Given the description of an element on the screen output the (x, y) to click on. 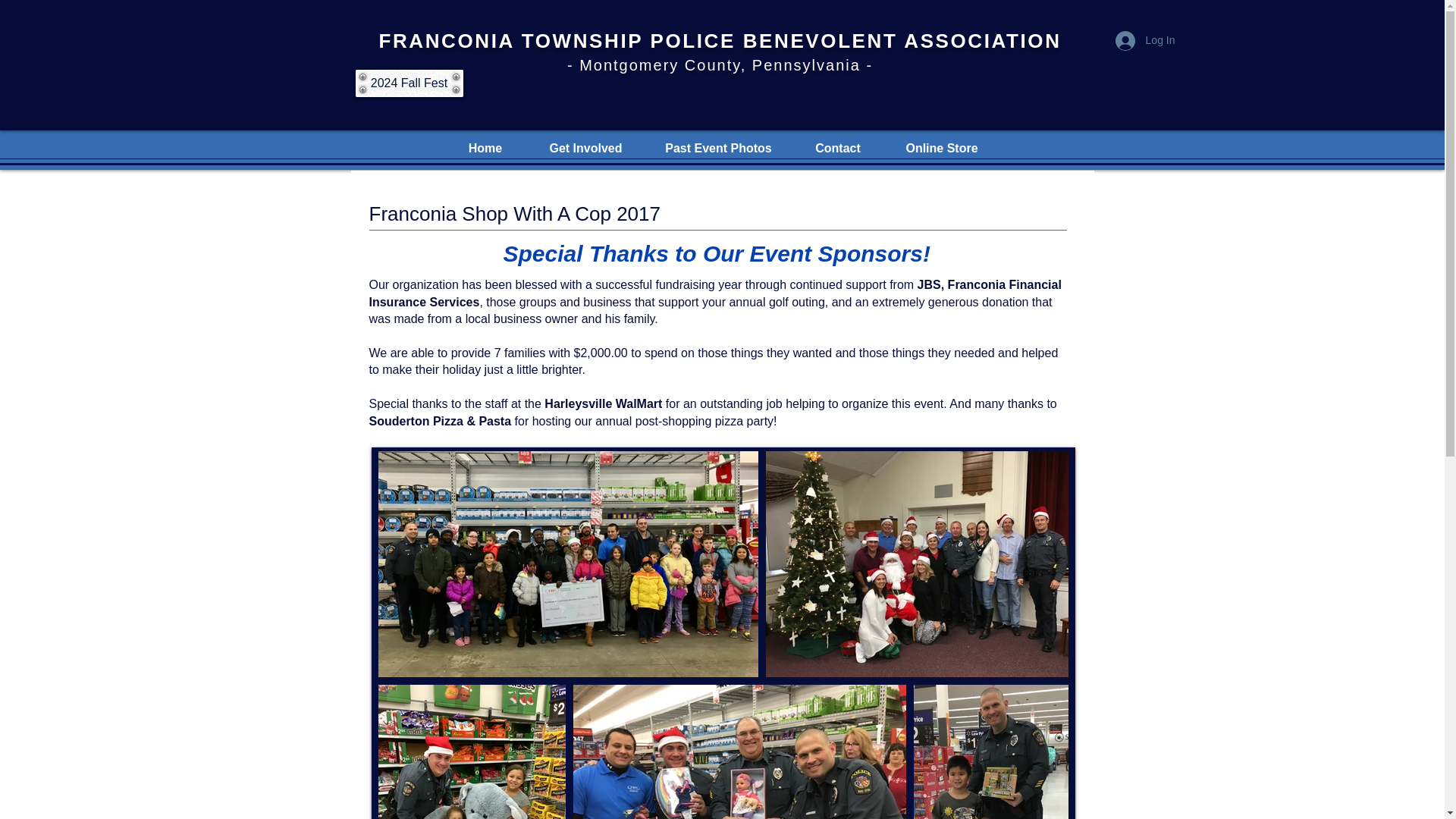
Get Involved (585, 146)
Log In (1145, 40)
Past Event Photos (718, 146)
Online Store (941, 146)
2024 Fall Fest (409, 83)
Contact (837, 146)
Home (485, 146)
